Given the description of an element on the screen output the (x, y) to click on. 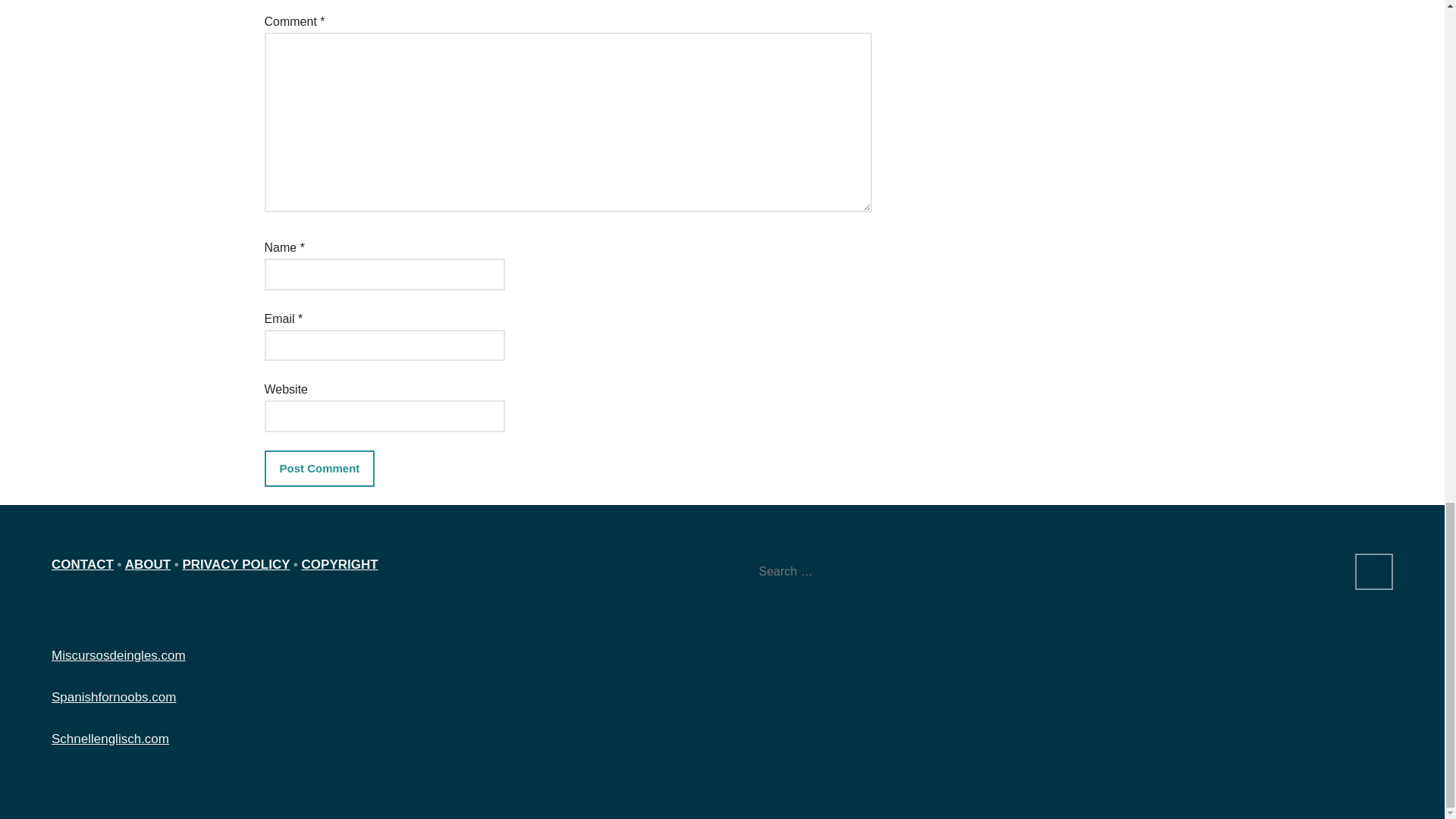
Post Comment (318, 468)
Search for: (1047, 570)
Spanishfornoobs.com (113, 697)
PRIVACY POLICY (235, 564)
COPYRIGHT (339, 564)
Schnellenglisch.com (109, 739)
Miscursosdeingles.com (118, 655)
ABOUT (147, 564)
Post Comment (318, 468)
CONTACT (81, 564)
